Given the description of an element on the screen output the (x, y) to click on. 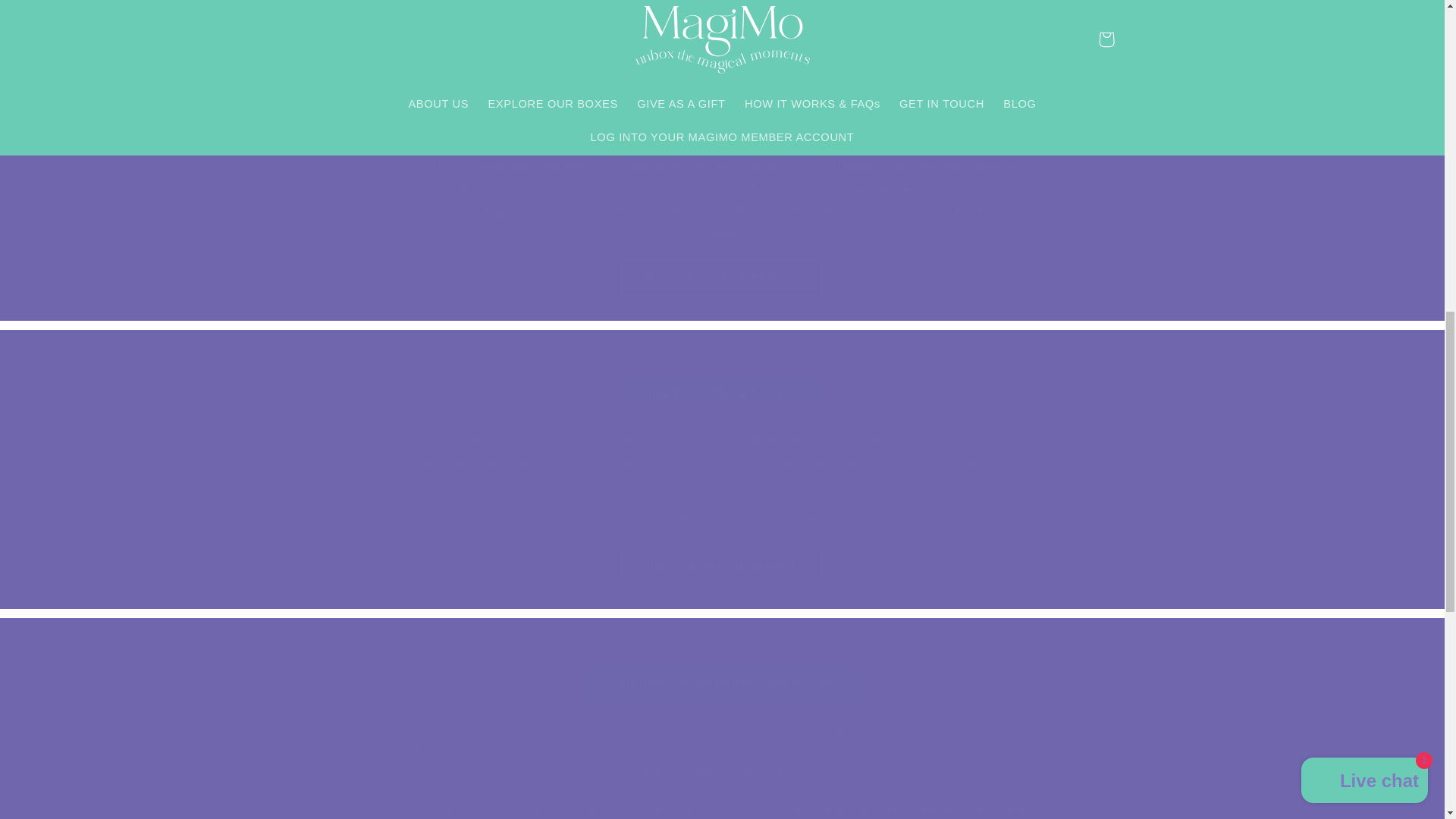
The Day It Rained Hearts (722, 394)
Buy this book on Amazon (721, 566)
Pete The Cat, Valentines Day is Cool (722, 682)
Buy this book on Amazon (722, 566)
Happy Valentines Day, Mouse (722, 119)
Happy Valentines Day, Mouse (721, 119)
The Day It Rained Hearts (722, 394)
Buy this book on Amazon (721, 278)
Pete The Cat, Valentines Day is Cool (722, 682)
Buy this book on Amazon (722, 278)
